Given the description of an element on the screen output the (x, y) to click on. 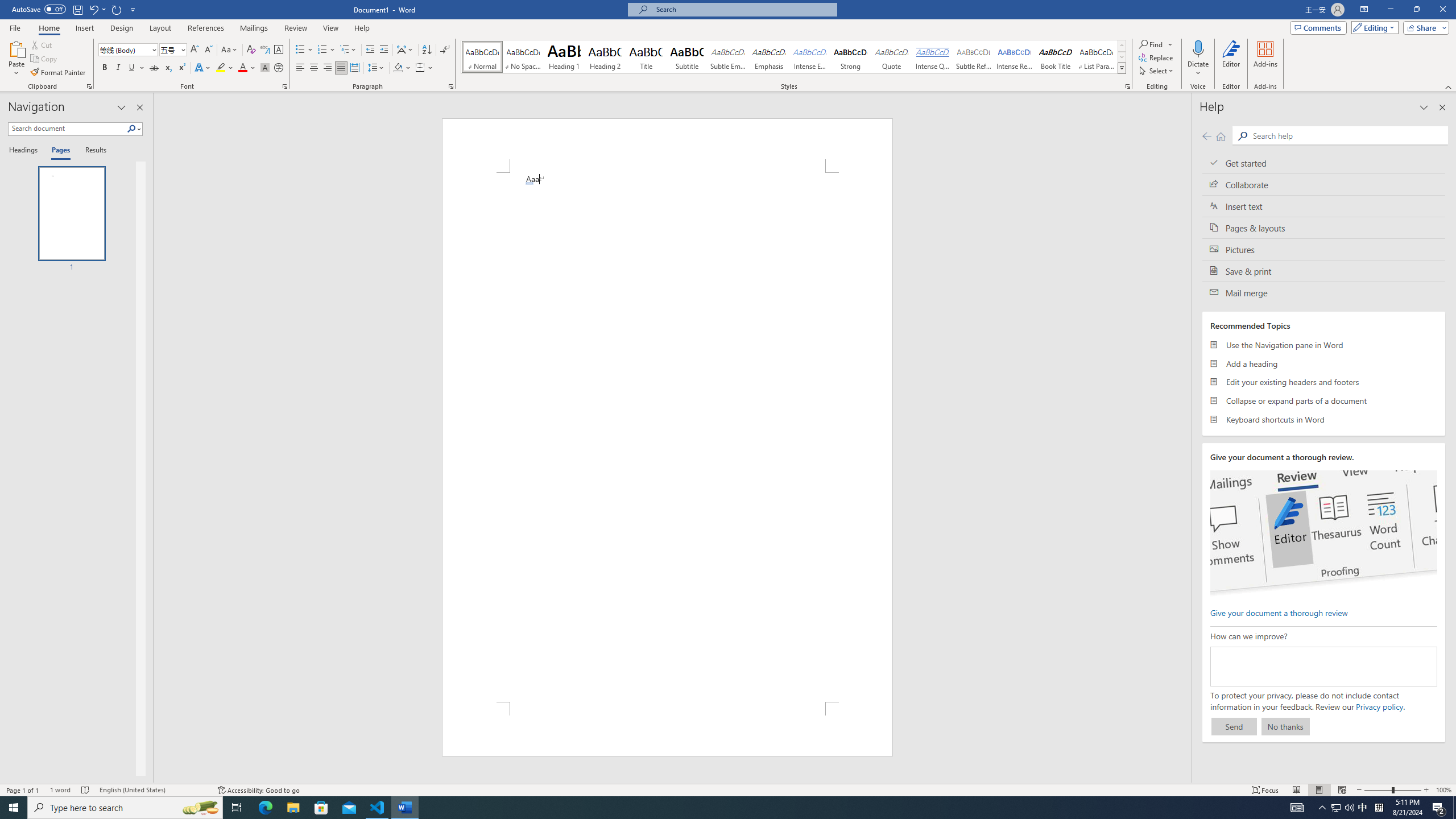
Italic (118, 67)
Distributed (354, 67)
Font Color Red (241, 67)
Zoom 100% (1443, 790)
Send (1233, 726)
Comments (1318, 27)
Print Layout (1318, 790)
Paragraph... (450, 85)
Shading RGB(0, 0, 0) (397, 67)
Focus  (1265, 790)
Styles... (1127, 85)
Borders (419, 67)
Replace... (1156, 56)
Ribbon Display Options (1364, 9)
No thanks (1285, 726)
